Given the description of an element on the screen output the (x, y) to click on. 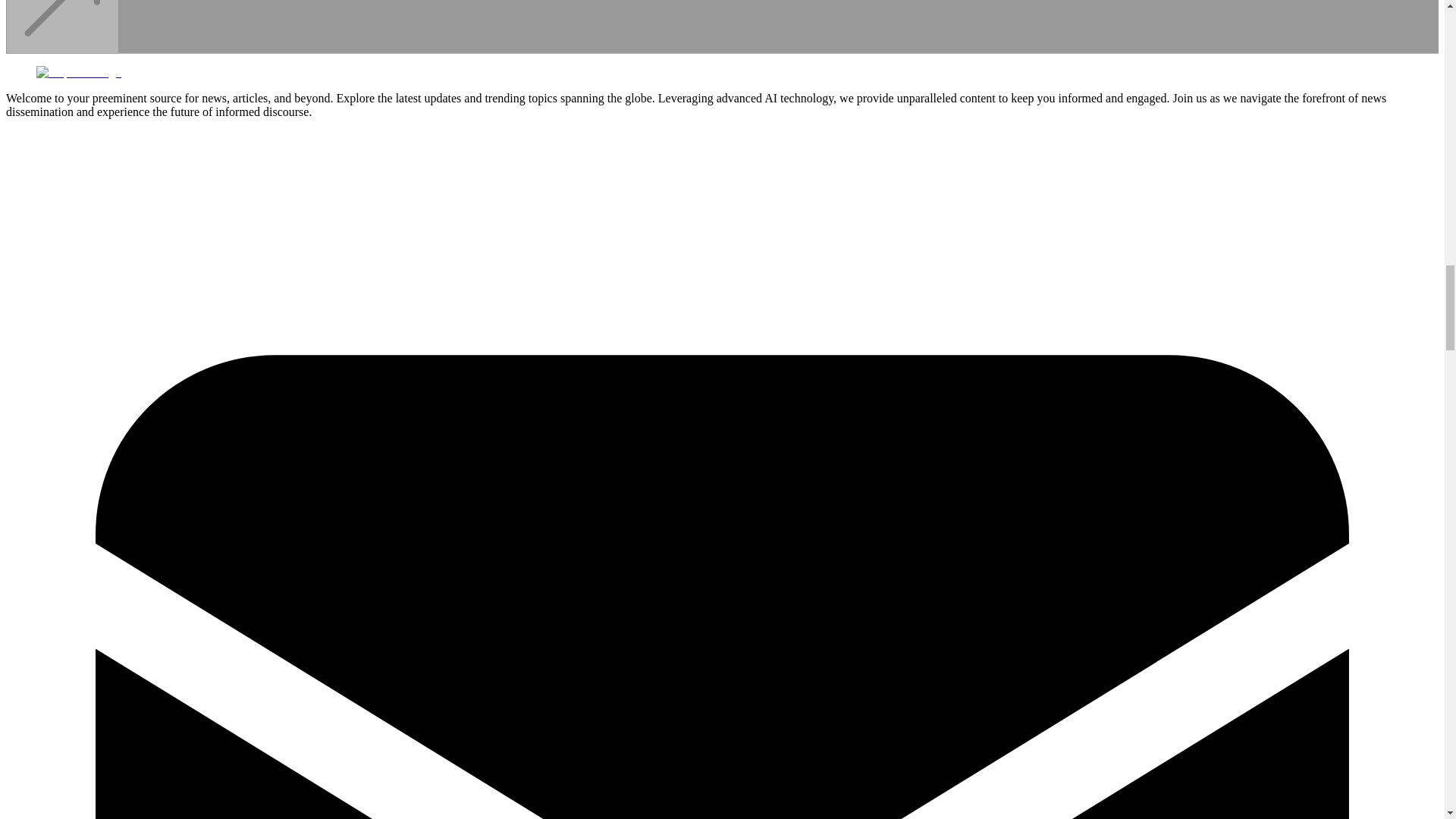
Read Blogs And News (62, 43)
Read Blogs And News (62, 27)
Roy Plus Logo (78, 71)
Read Blogs And News (62, 43)
